Given the description of an element on the screen output the (x, y) to click on. 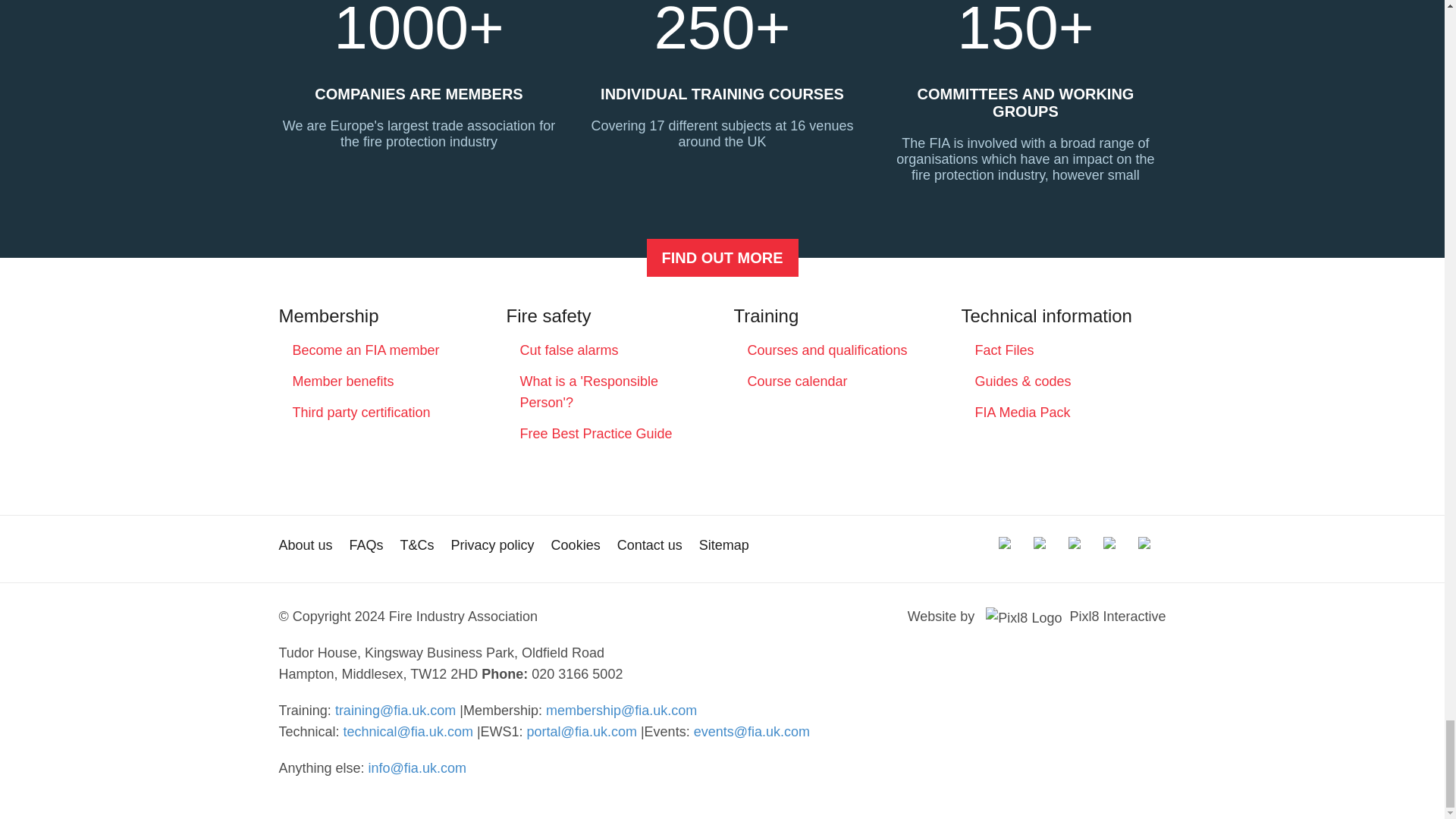
FIA Media Pack (1022, 412)
Member benefits (343, 381)
Course calendar (797, 381)
About us (306, 544)
Become an FIA member (721, 257)
FAQs (366, 544)
Fact Files (1004, 350)
Contact us (649, 544)
Sitemap (723, 544)
Courses and qualifications (827, 350)
Third party certification (361, 412)
Cut false alarms (568, 350)
Cookies (575, 544)
What is a 'Responsible Person'? (589, 391)
Free Best Practice Guide (595, 433)
